Given the description of an element on the screen output the (x, y) to click on. 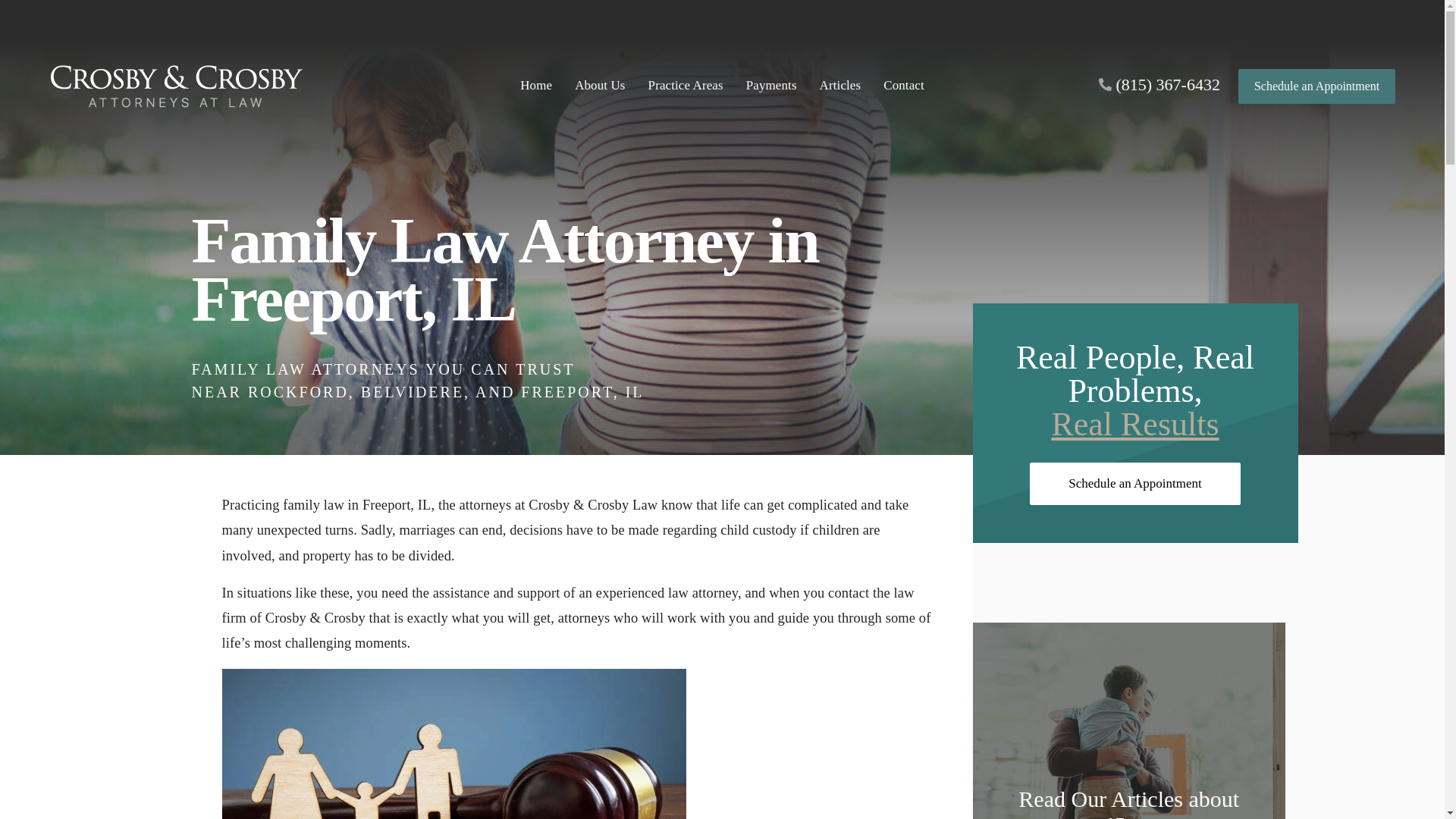
Contact (904, 86)
Home (535, 86)
Practice Areas (686, 86)
Payments (771, 86)
Home (535, 86)
Practice Areas (686, 86)
Articles (840, 86)
About Us (599, 86)
Schedule an Appointment (1316, 85)
About Us (599, 86)
